Given the description of an element on the screen output the (x, y) to click on. 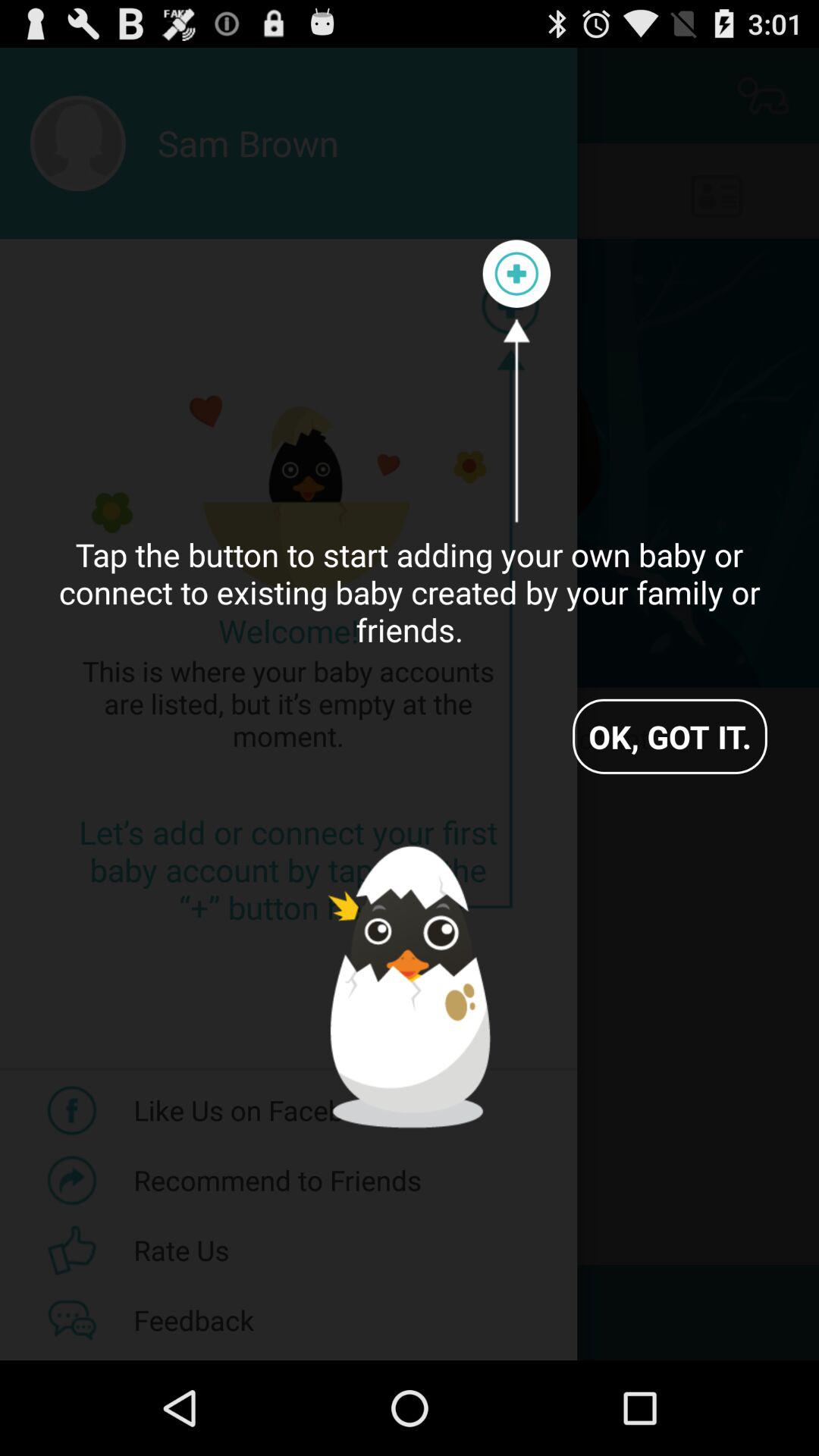
scroll until ok, got it. (669, 736)
